Given the description of an element on the screen output the (x, y) to click on. 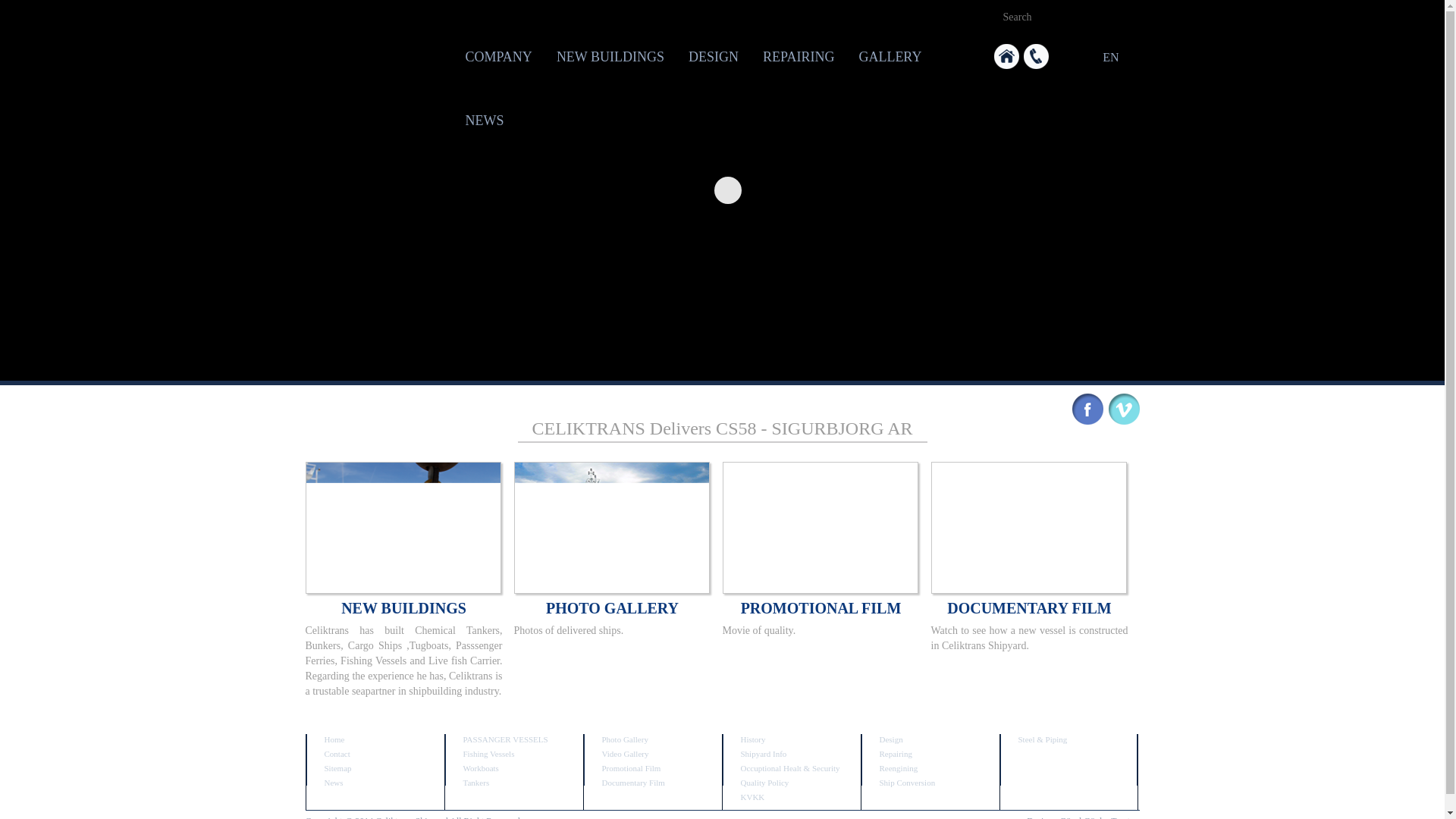
REPAIRING (798, 56)
GALLERY (889, 56)
NEW BUILDINGS (610, 56)
DESIGN (714, 56)
CELIKTRANS Delivers CS58 - SIGURBJORG AR (721, 428)
NEWS (484, 120)
COMPANY (498, 56)
EN (1105, 57)
